Given the description of an element on the screen output the (x, y) to click on. 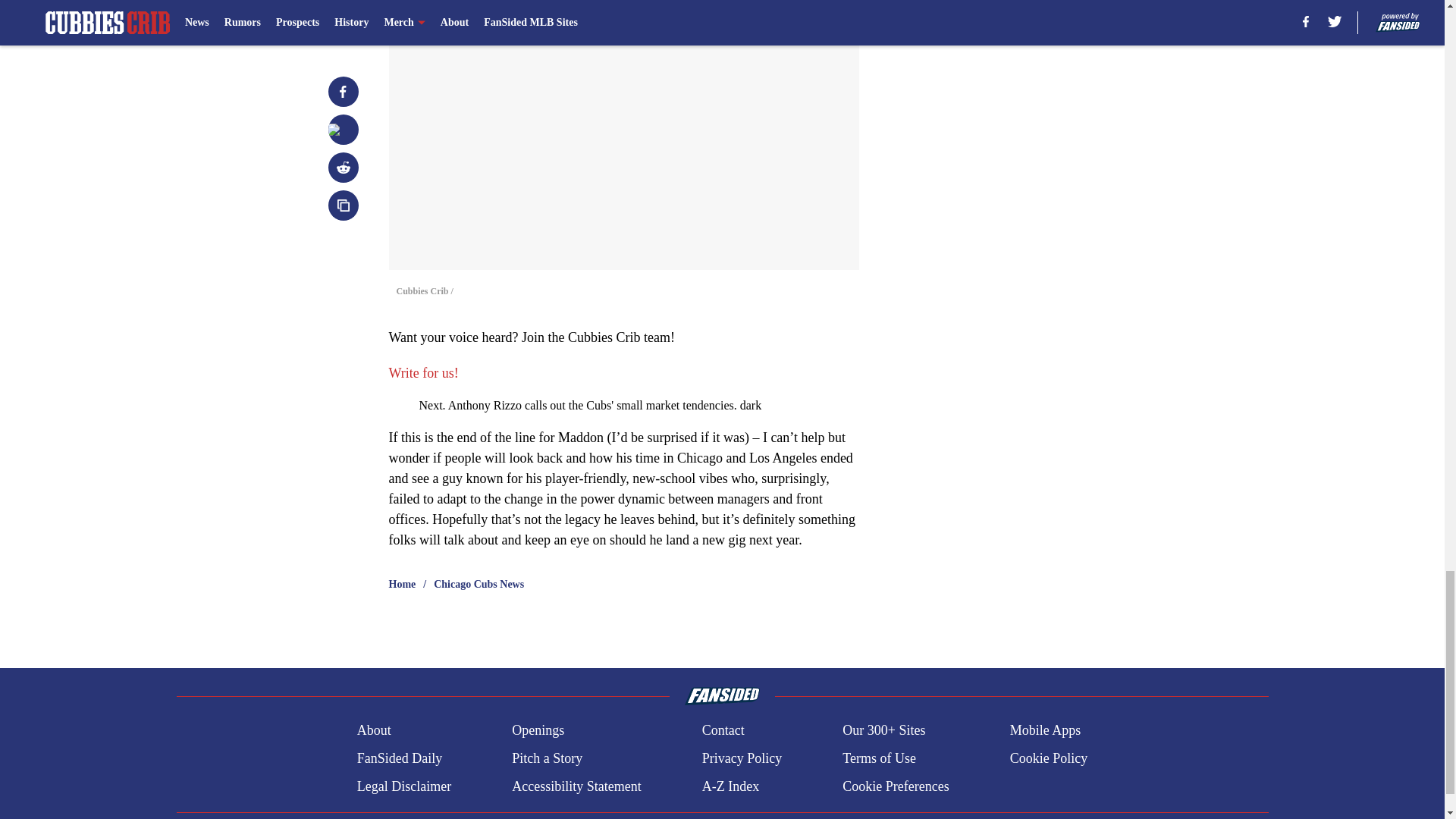
Chicago Cubs News (478, 584)
About (373, 730)
FanSided Daily (399, 758)
Contact (722, 730)
Cookie Preferences (896, 786)
Legal Disclaimer (403, 786)
Accessibility Statement (576, 786)
Mobile Apps (1045, 730)
Pitch a Story (547, 758)
Cookie Policy (1048, 758)
